Given the description of an element on the screen output the (x, y) to click on. 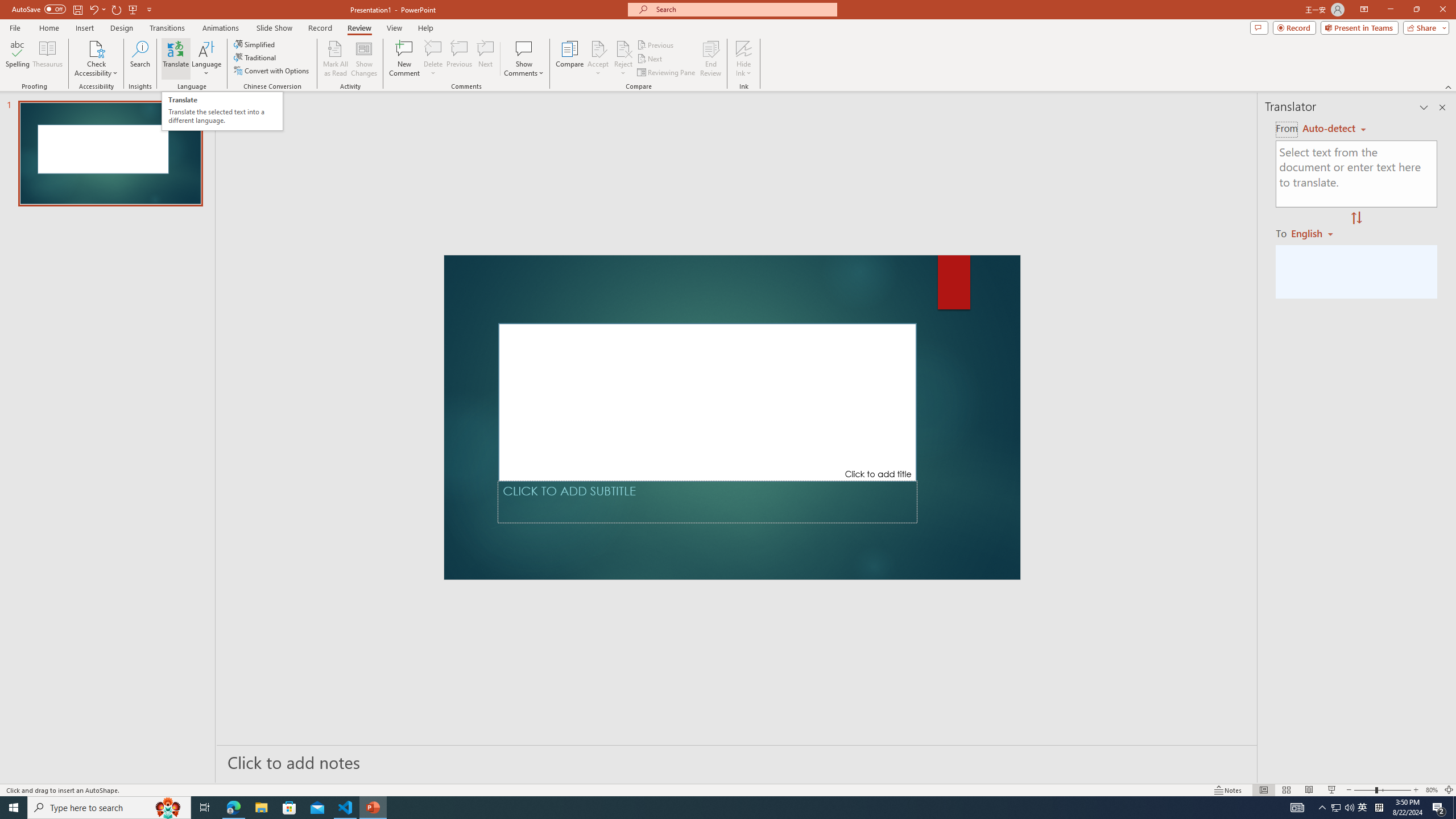
Zoom 80% (1431, 790)
Title TextBox (707, 401)
New Comment (403, 58)
